Given the description of an element on the screen output the (x, y) to click on. 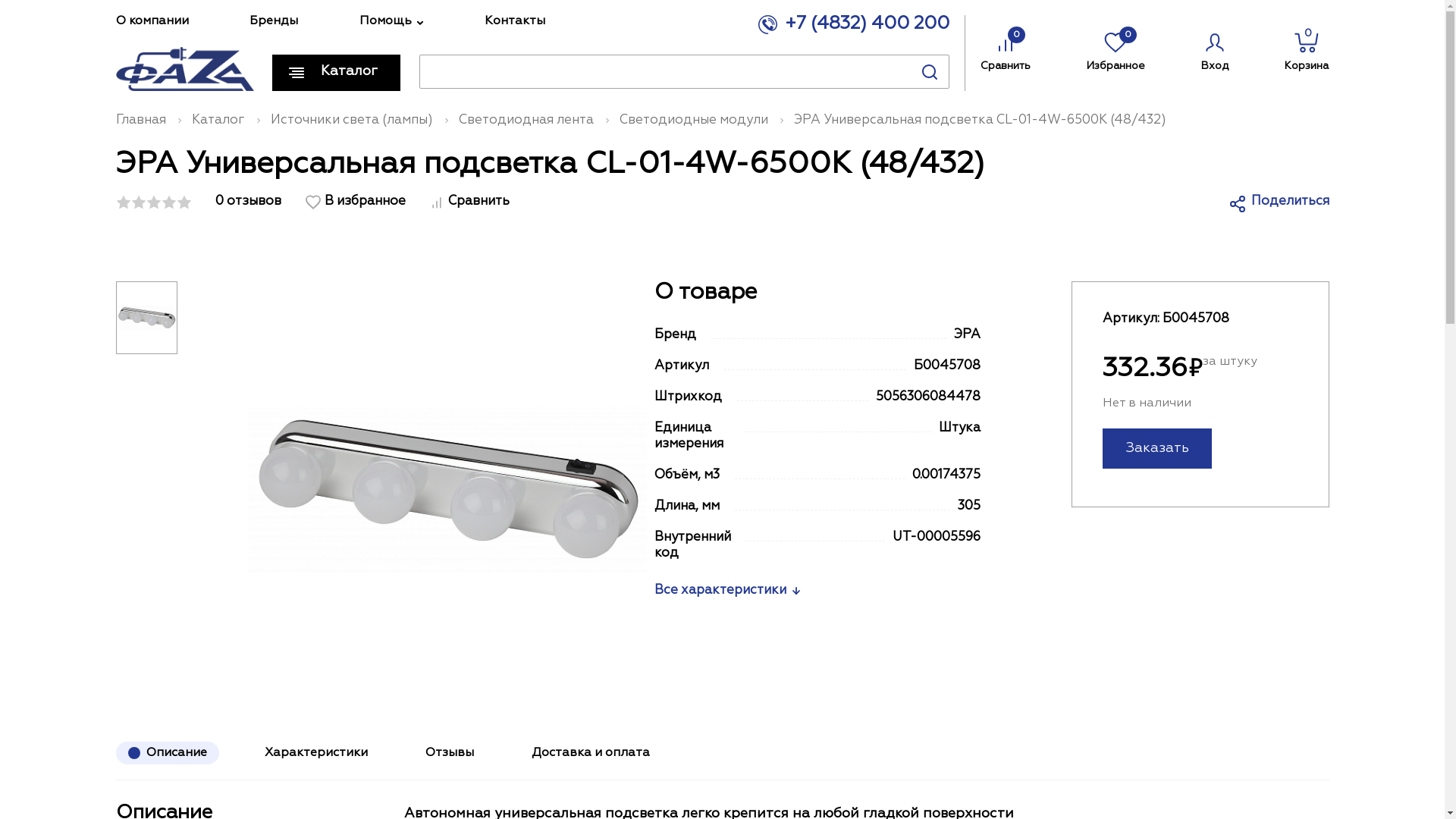
+7 (4832) 400 200 Element type: text (853, 22)
